Given the description of an element on the screen output the (x, y) to click on. 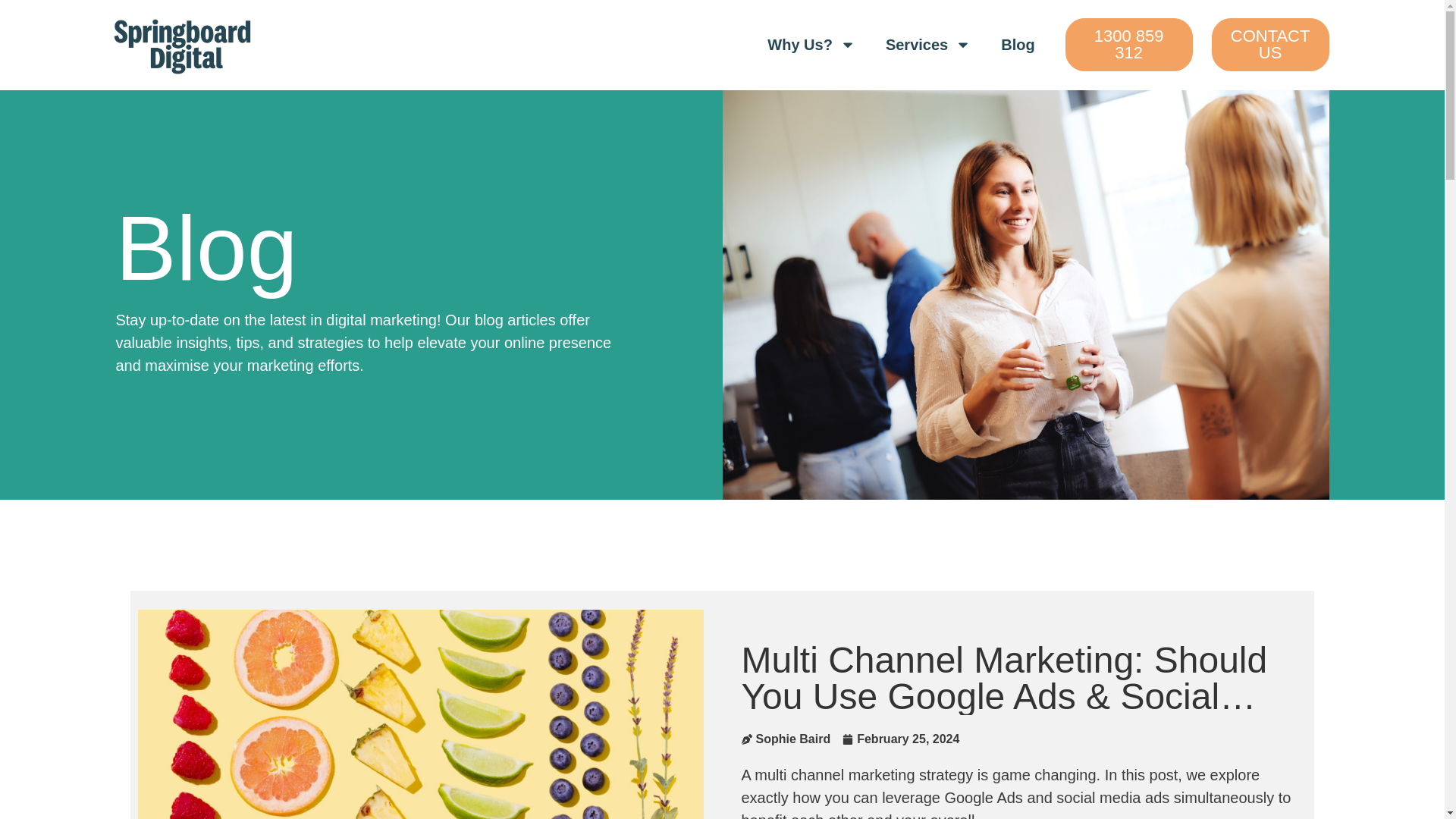
Blog (1017, 44)
Services (927, 44)
Why Us? (811, 44)
CONTACT US (1270, 44)
1300 859 312 (1128, 44)
